Given the description of an element on the screen output the (x, y) to click on. 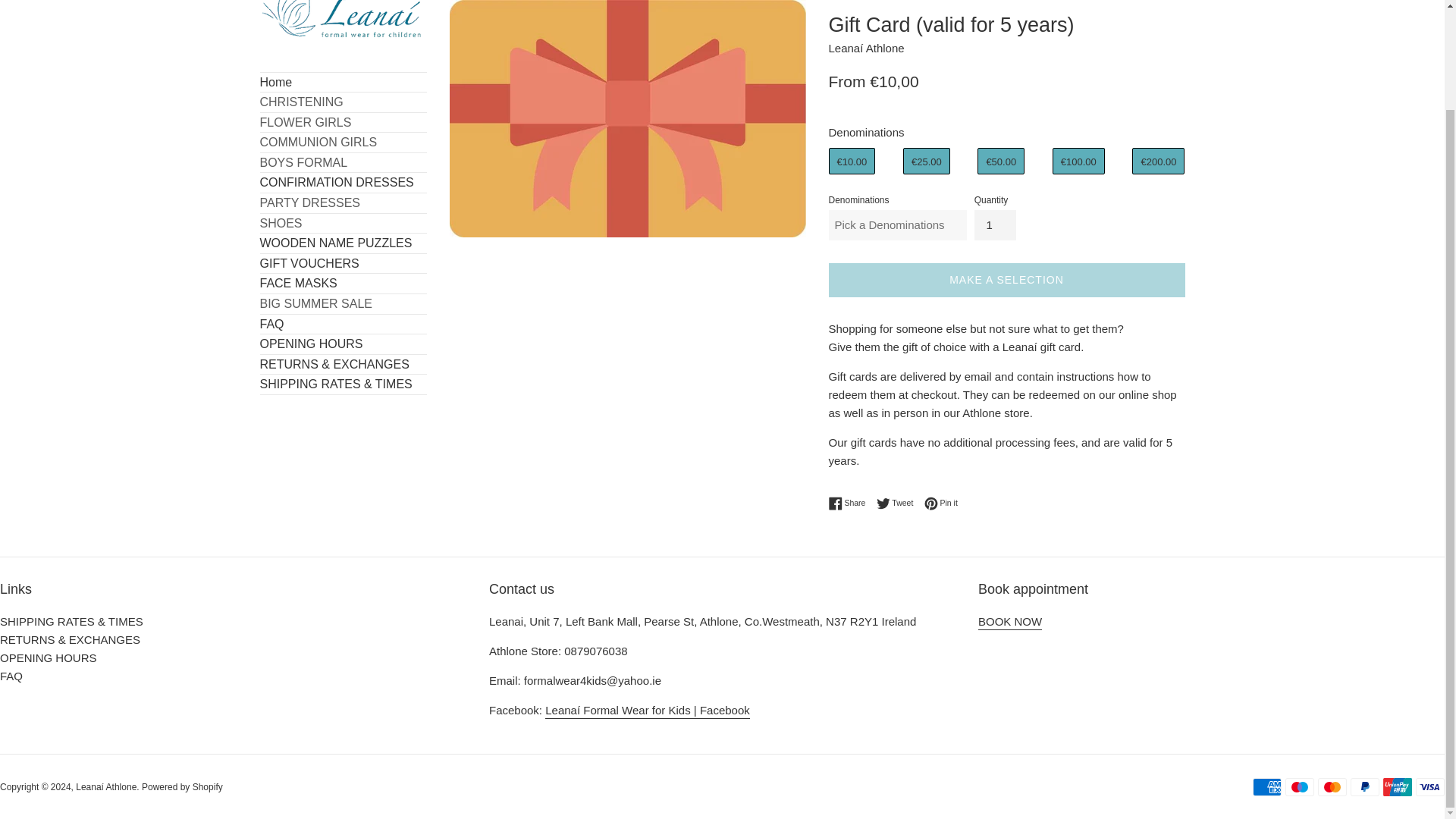
PayPal (1364, 787)
1 (995, 224)
Union Pay (1397, 787)
Pin on Pinterest (941, 503)
Mastercard (1331, 787)
Tweet on Twitter (898, 503)
Maestro (1299, 787)
American Express (1266, 787)
BOOK NOW (1010, 622)
CHRISTENING (342, 102)
